Given the description of an element on the screen output the (x, y) to click on. 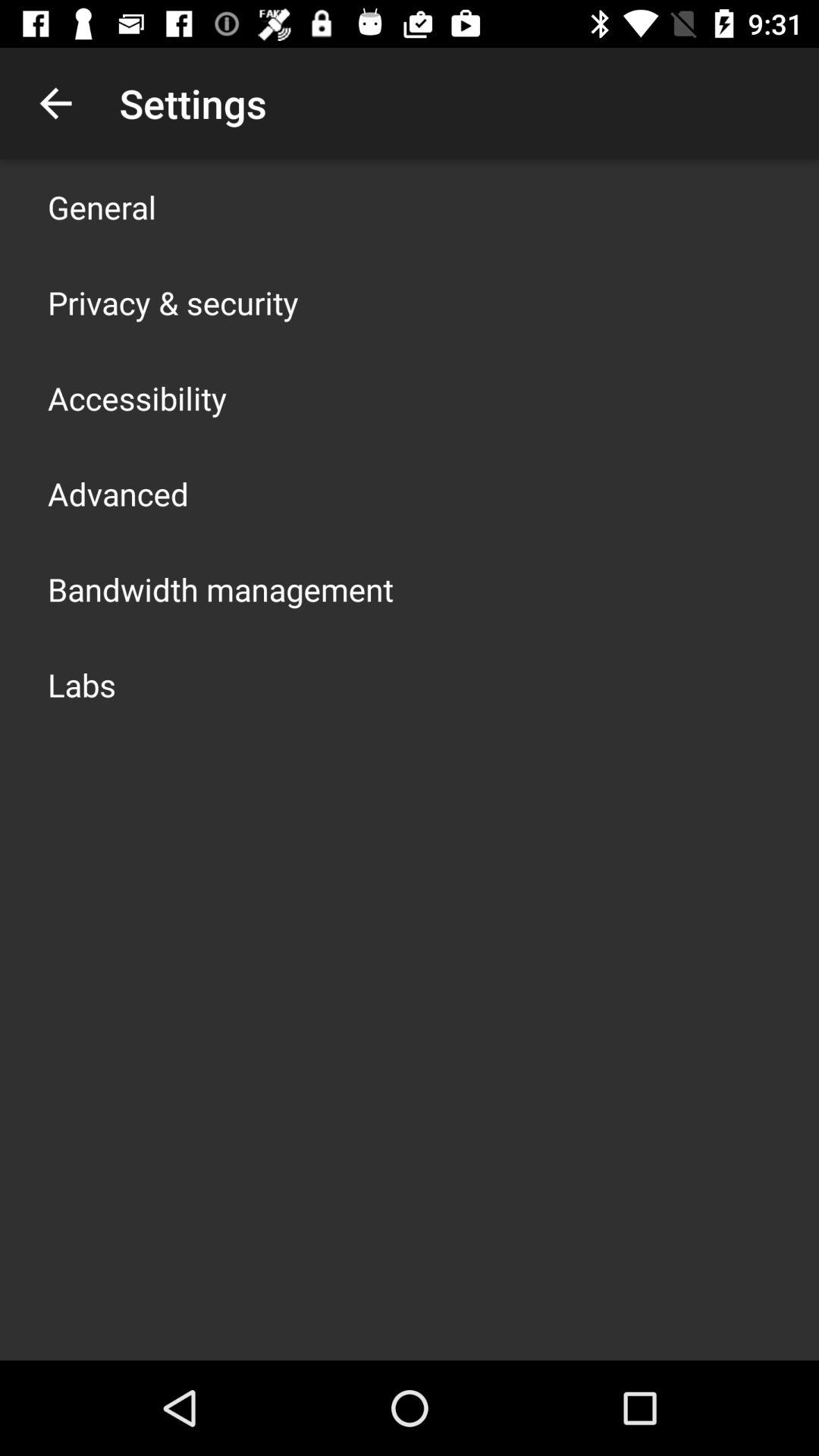
flip until accessibility app (136, 397)
